Given the description of an element on the screen output the (x, y) to click on. 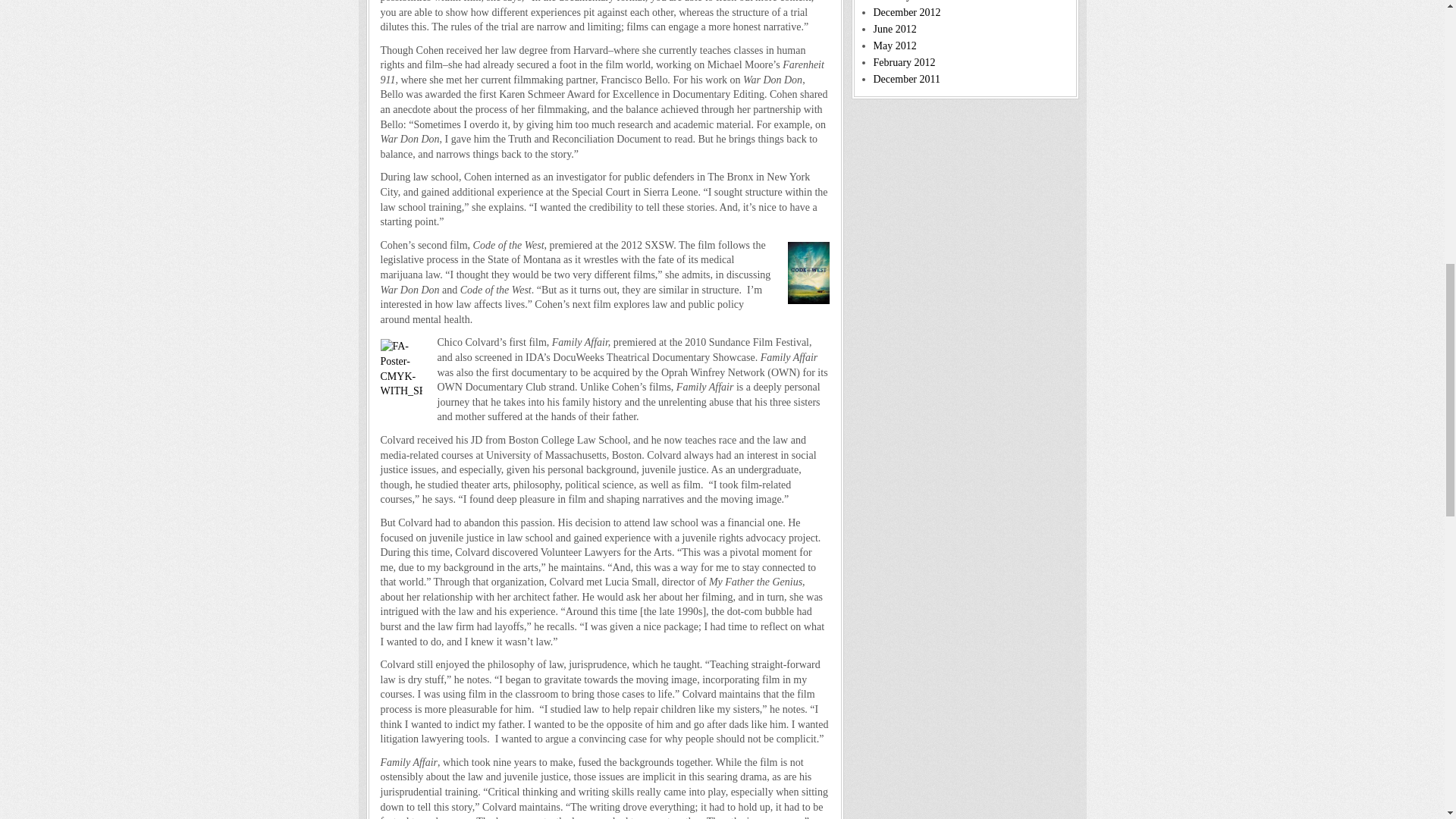
June 2012 (895, 29)
February 2013 (904, 0)
December 2012 (906, 12)
